Given the description of an element on the screen output the (x, y) to click on. 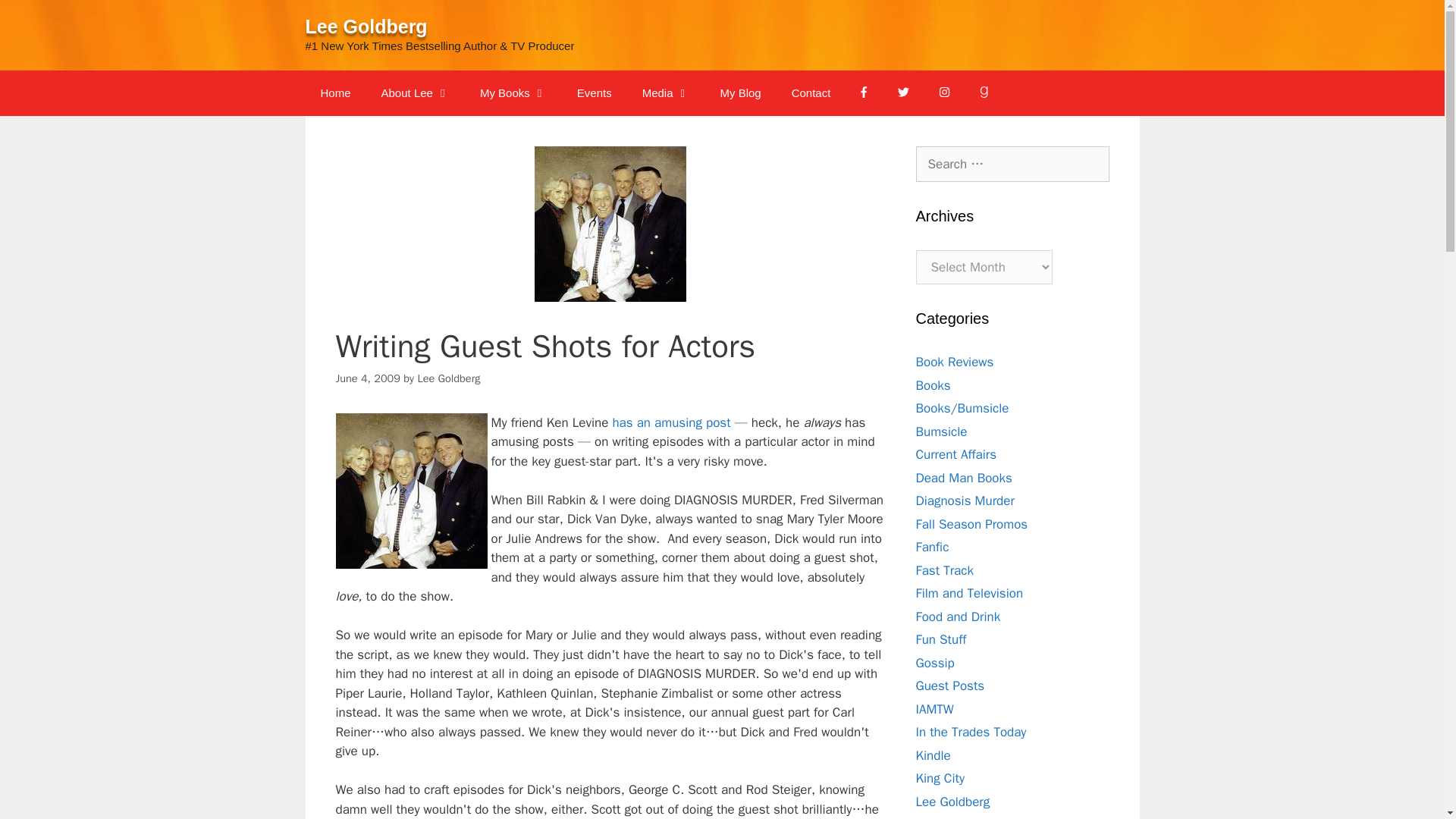
Events (594, 92)
My Books (513, 92)
Lee Goldberg (365, 25)
Media (665, 92)
My Blog (740, 92)
Lee Goldberg (448, 377)
Home (334, 92)
View all posts by Lee Goldberg (448, 377)
About Lee (415, 92)
Search for: (1012, 163)
has an amusing post (669, 422)
Contact (810, 92)
